Given the description of an element on the screen output the (x, y) to click on. 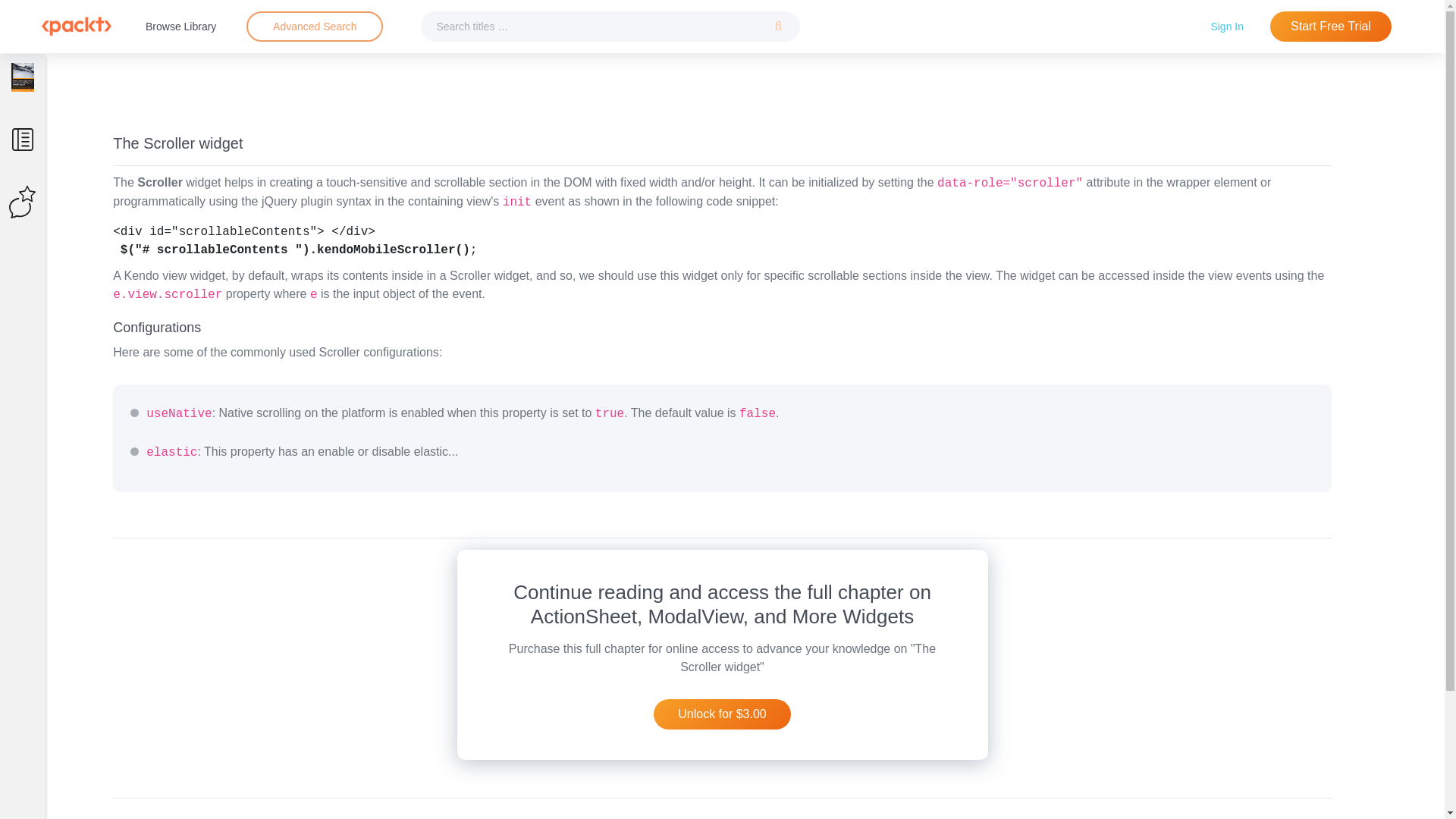
Sign In (1227, 26)
Advanced Search (314, 26)
Browse Library (180, 26)
Advanced search (314, 26)
Advanced Search (315, 26)
Start Free Trial (1330, 26)
